Given the description of an element on the screen output the (x, y) to click on. 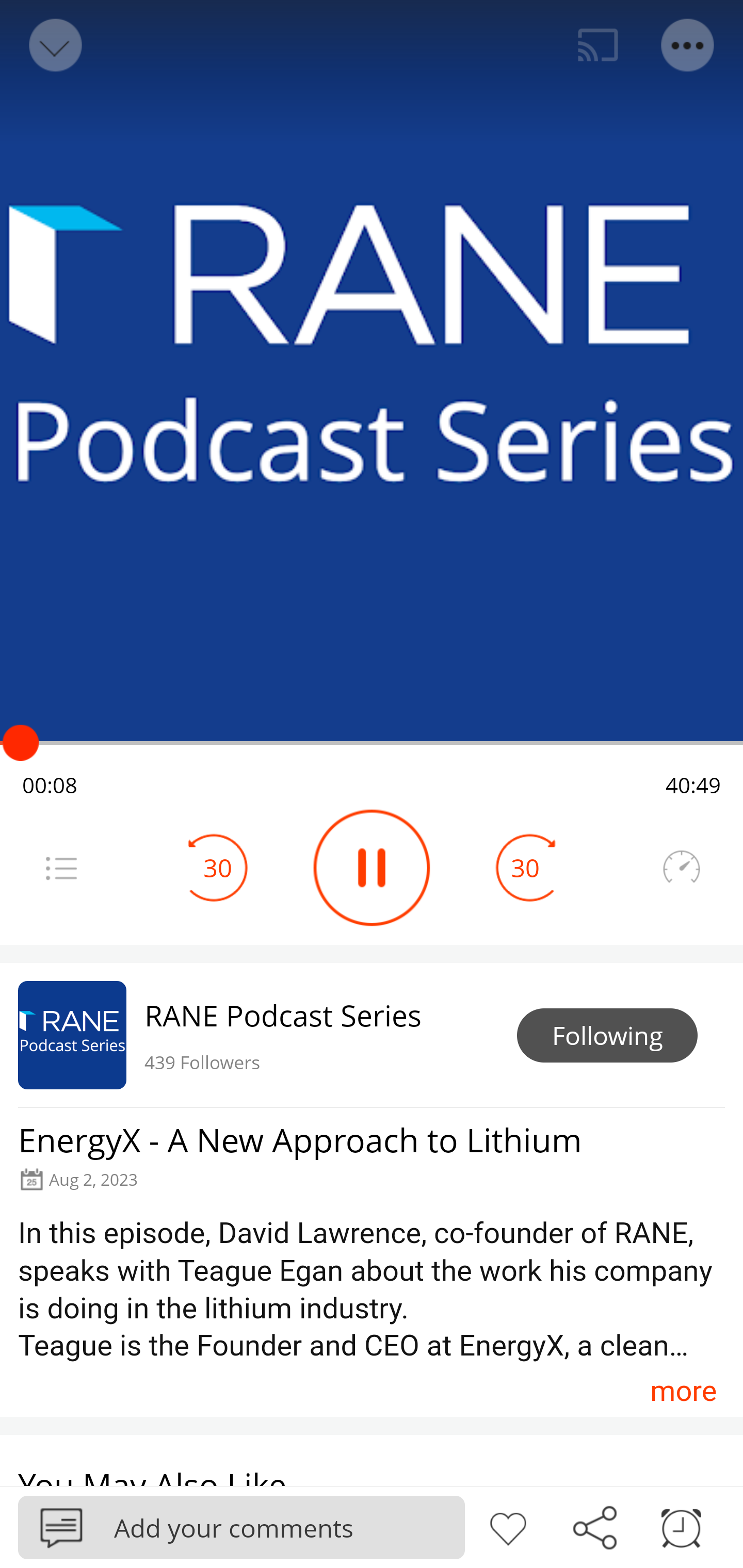
Back (53, 45)
Cast. Disconnected (597, 45)
Menu (688, 45)
Play (371, 867)
30 Seek Backward (217, 867)
30 Seek Forward (525, 867)
Menu (60, 867)
Speedometer (681, 867)
RANE Podcast Series 439 Followers Following (371, 1034)
Following (607, 1035)
more (682, 1390)
Like (508, 1526)
Share (594, 1526)
Sleep timer (681, 1526)
Podbean Add your comments (241, 1526)
